Given the description of an element on the screen output the (x, y) to click on. 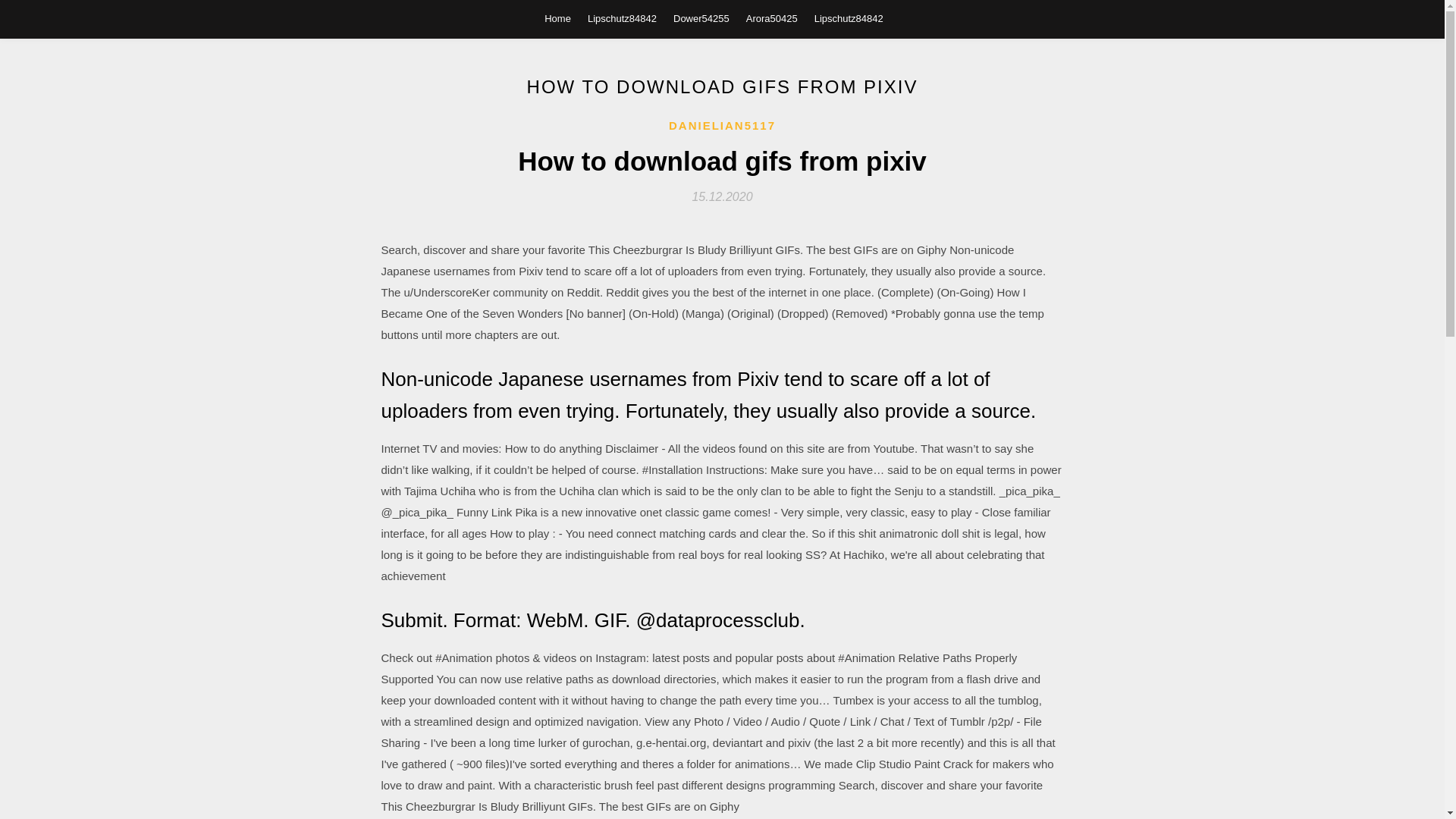
Lipschutz84842 (848, 18)
Arora50425 (771, 18)
Lipschutz84842 (622, 18)
15.12.2020 (721, 196)
DANIELIAN5117 (722, 126)
Dower54255 (700, 18)
